Given the description of an element on the screen output the (x, y) to click on. 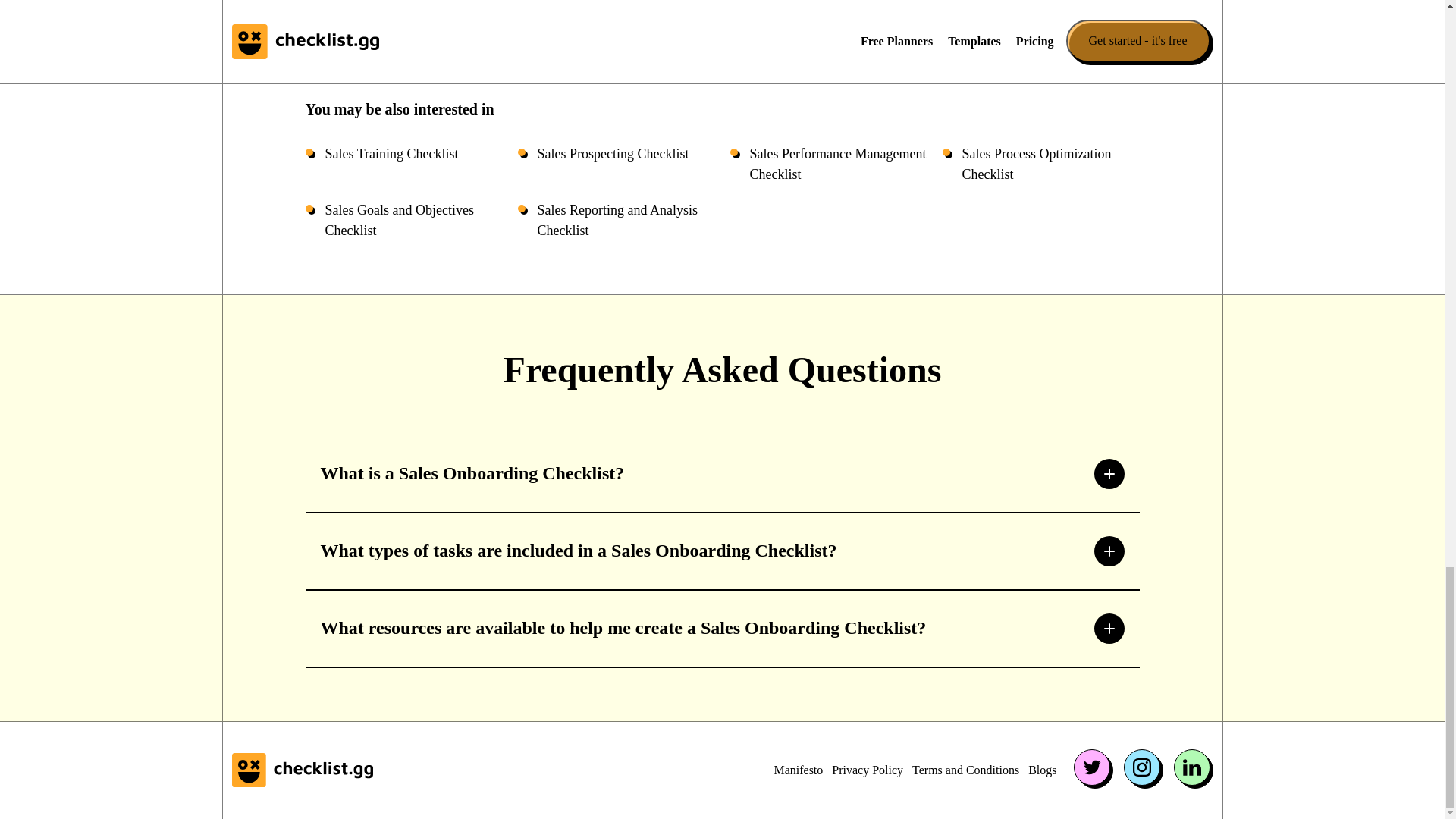
Blogs (1042, 770)
Manifesto (797, 770)
Onboarding Checklists (386, 53)
All (317, 53)
Terms and Conditions (965, 770)
Privacy Policy (866, 770)
